Given the description of an element on the screen output the (x, y) to click on. 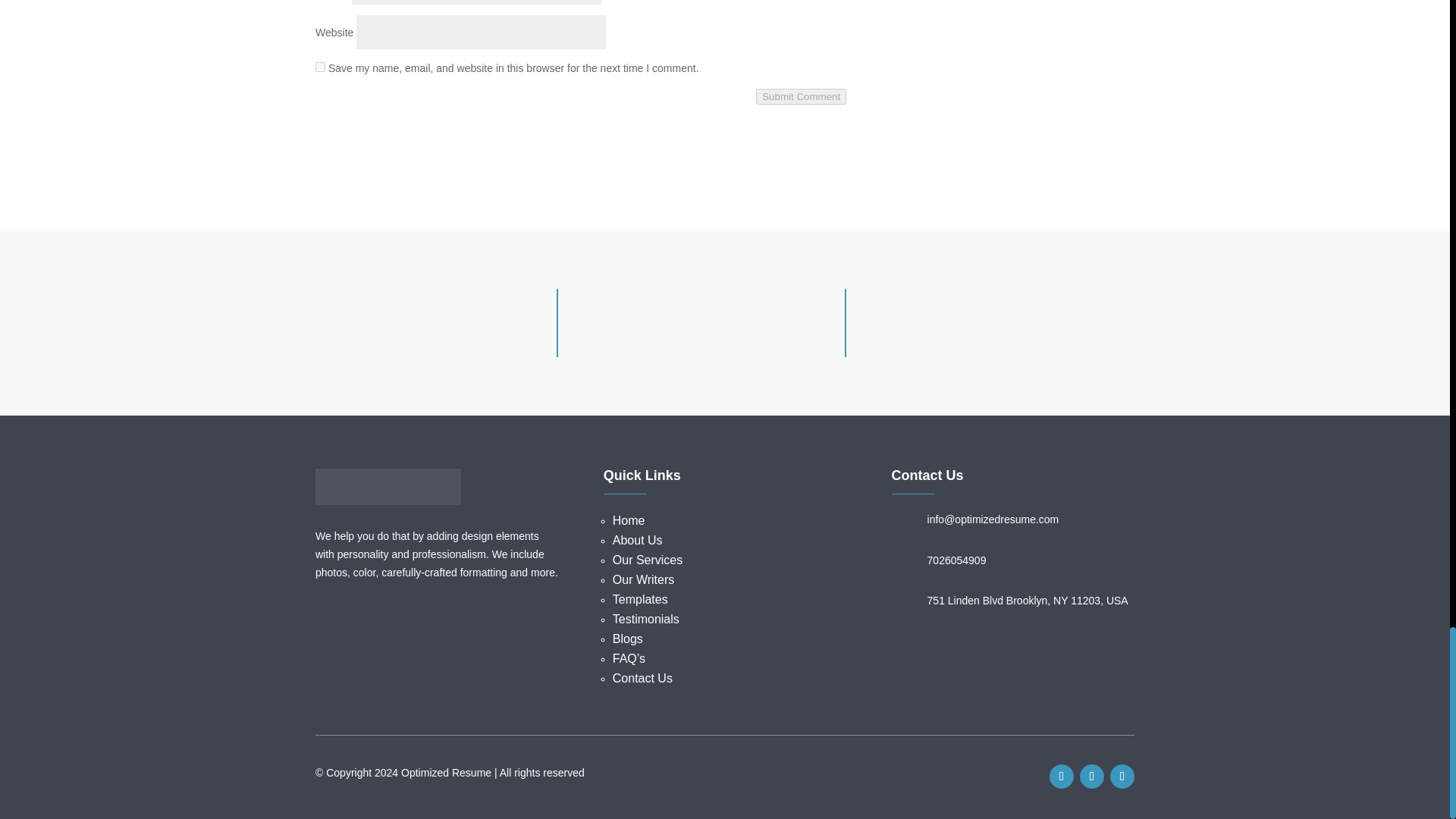
yes (319, 67)
Follow on Instagram (1091, 776)
Submit Comment (800, 96)
Follow on Facebook (1061, 776)
Follow on LinkedIn (1121, 776)
